Given the description of an element on the screen output the (x, y) to click on. 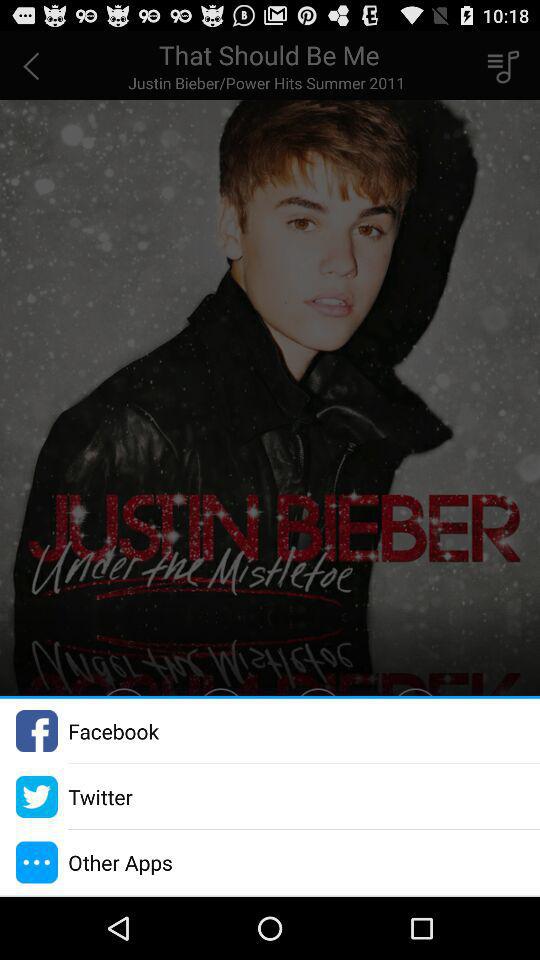
flip to the other apps item (120, 862)
